Given the description of an element on the screen output the (x, y) to click on. 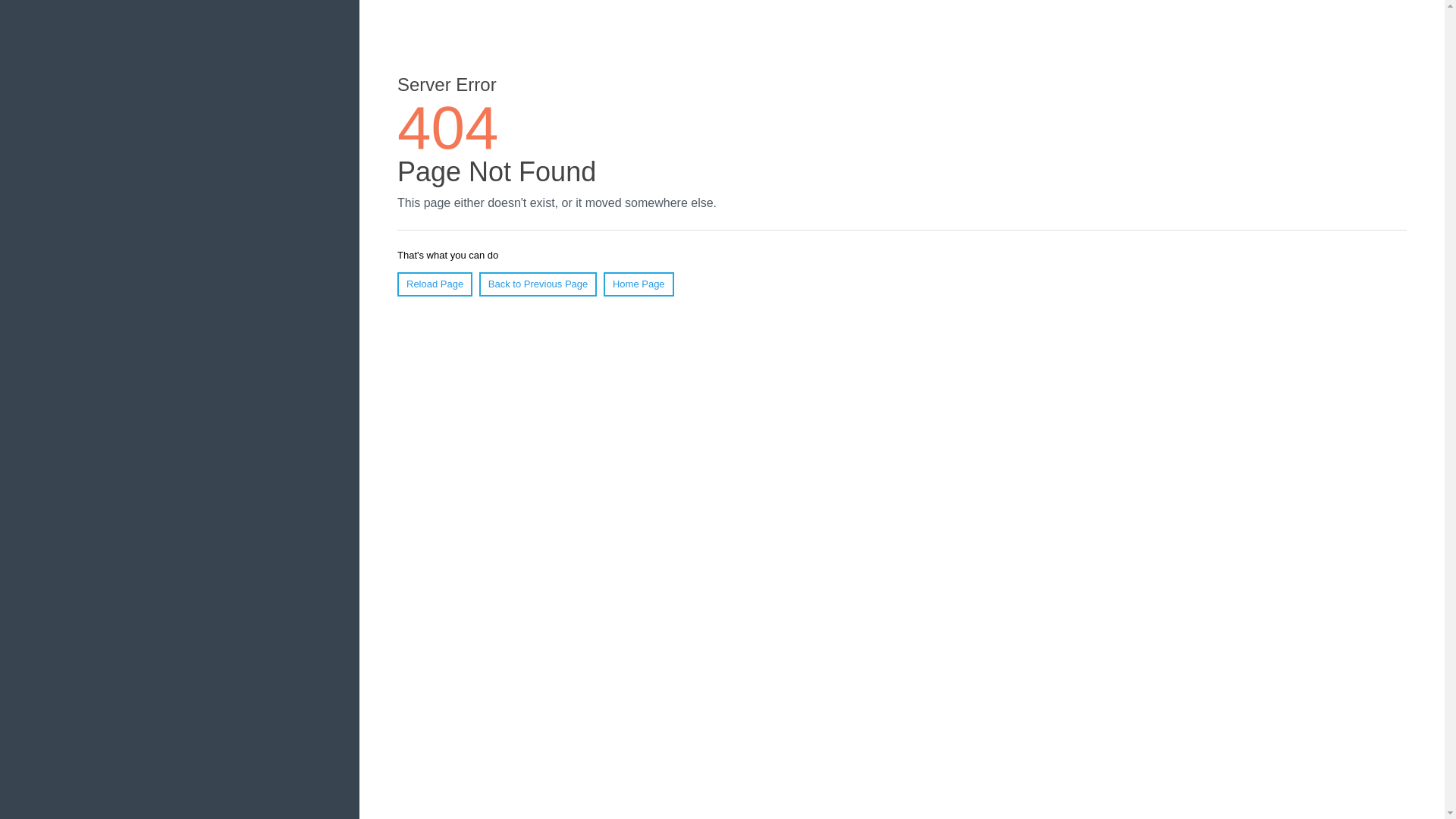
Reload Page Element type: text (434, 284)
Home Page Element type: text (638, 284)
Back to Previous Page Element type: text (538, 284)
